Given the description of an element on the screen output the (x, y) to click on. 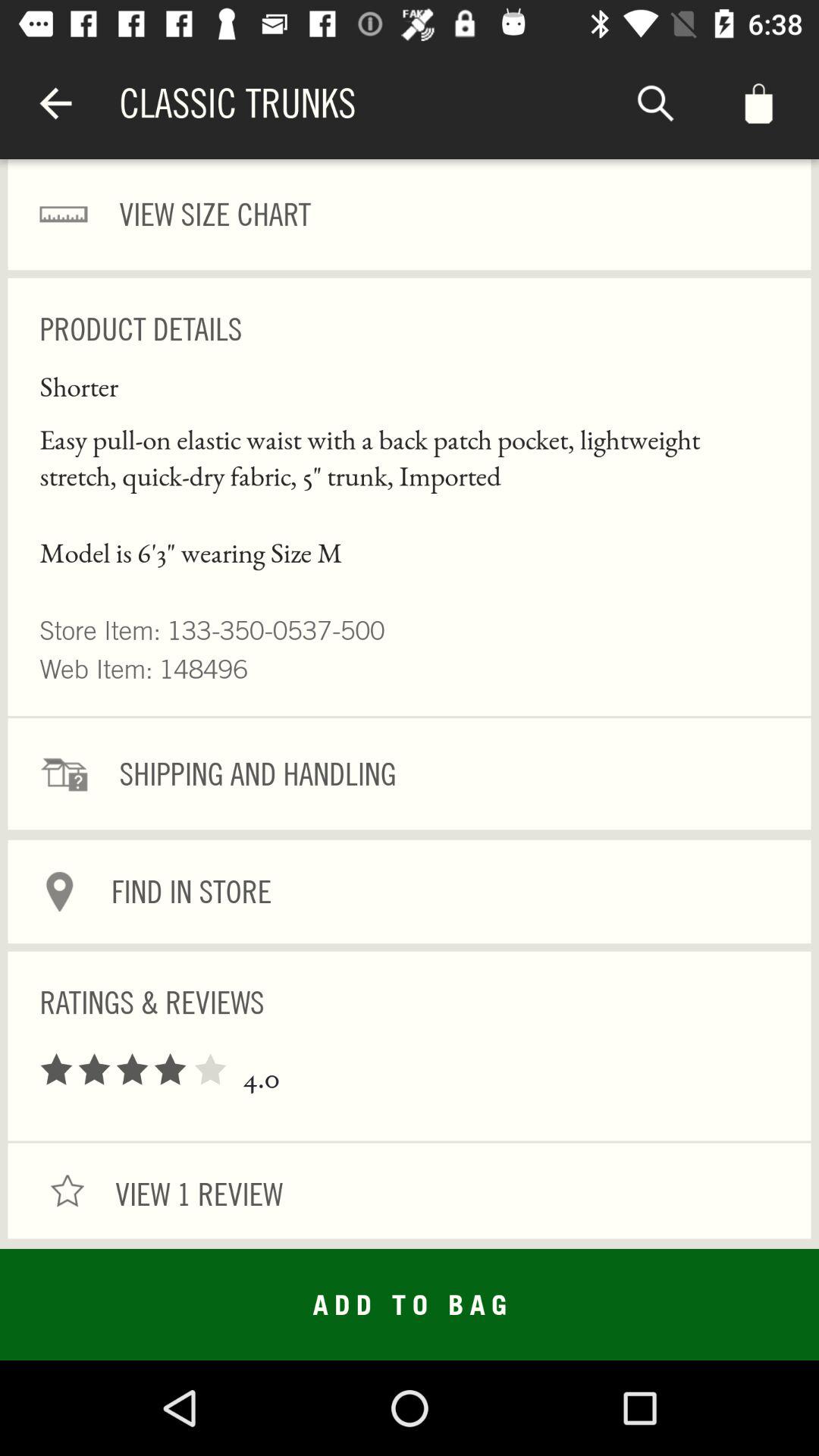
press the item above view size chart icon (655, 103)
